Given the description of an element on the screen output the (x, y) to click on. 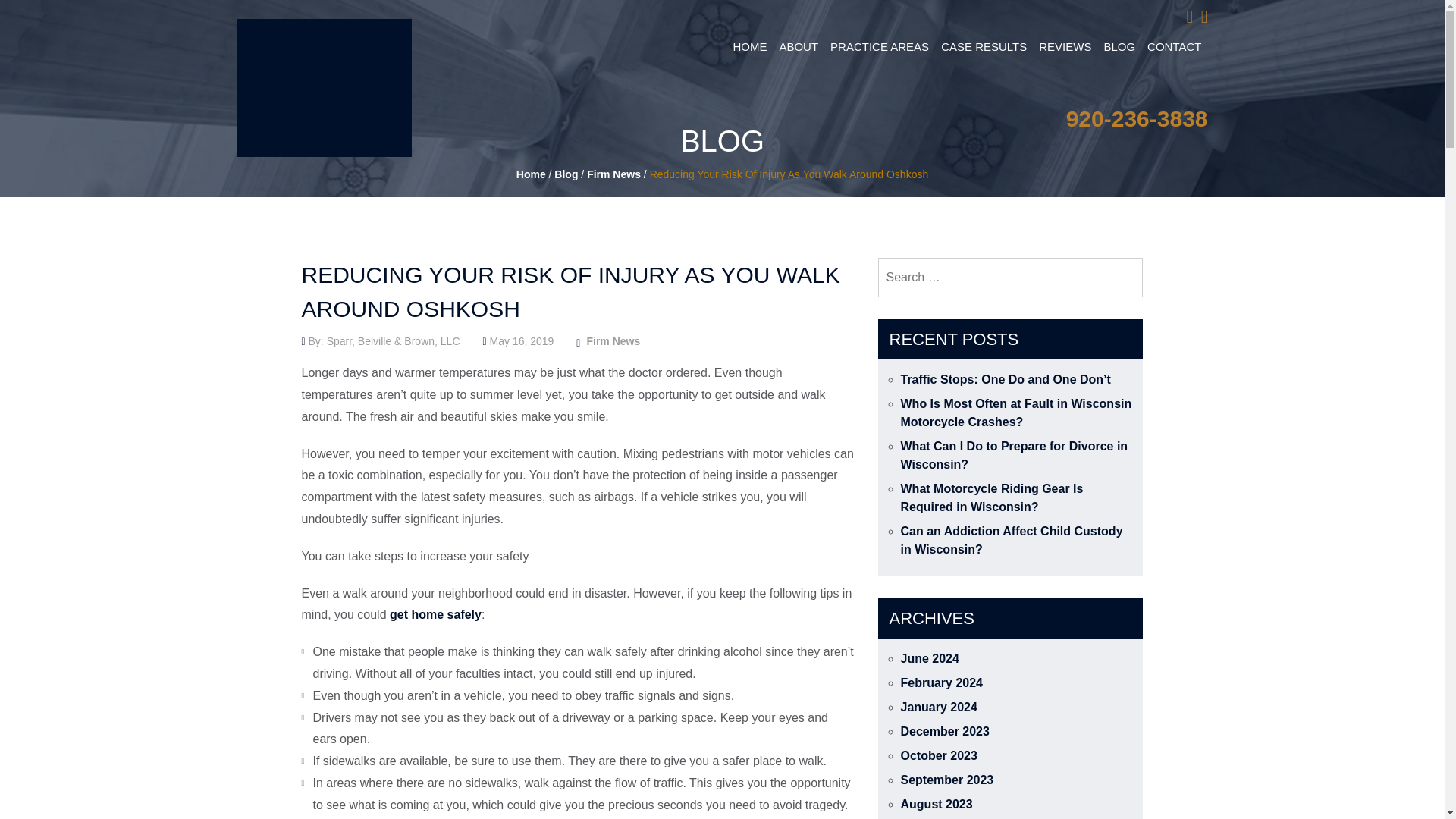
June 2024 (930, 658)
August 2023 (936, 803)
Search (1122, 277)
BLOG (1119, 47)
Home (531, 174)
September 2023 (947, 779)
December 2023 (945, 730)
Who Is Most Often at Fault in Wisconsin Motorcycle Crashes? (1016, 412)
October 2023 (938, 755)
Blog (566, 174)
